Given the description of an element on the screen output the (x, y) to click on. 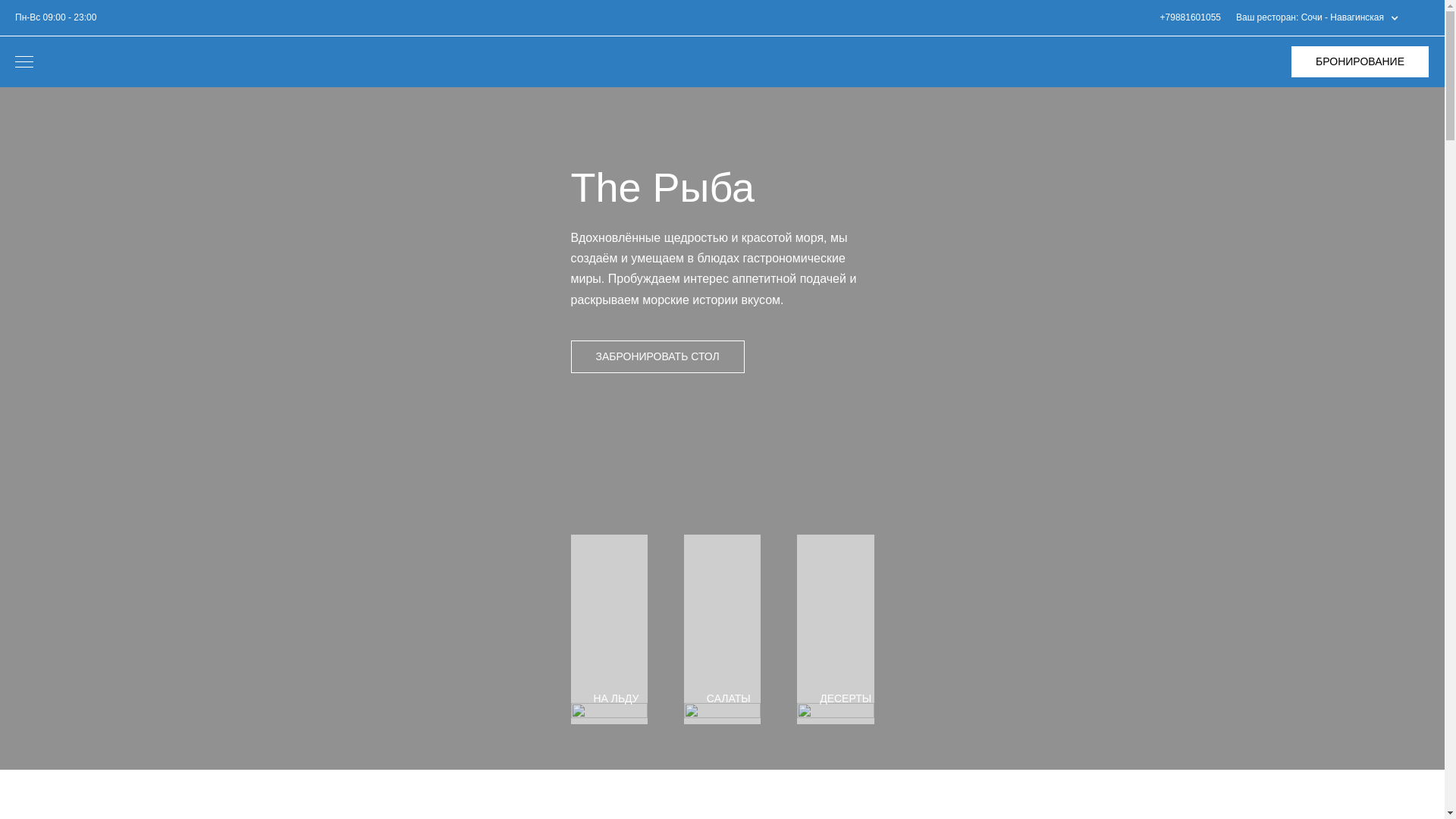
+79881601055 Element type: text (1190, 17)
